Given the description of an element on the screen output the (x, y) to click on. 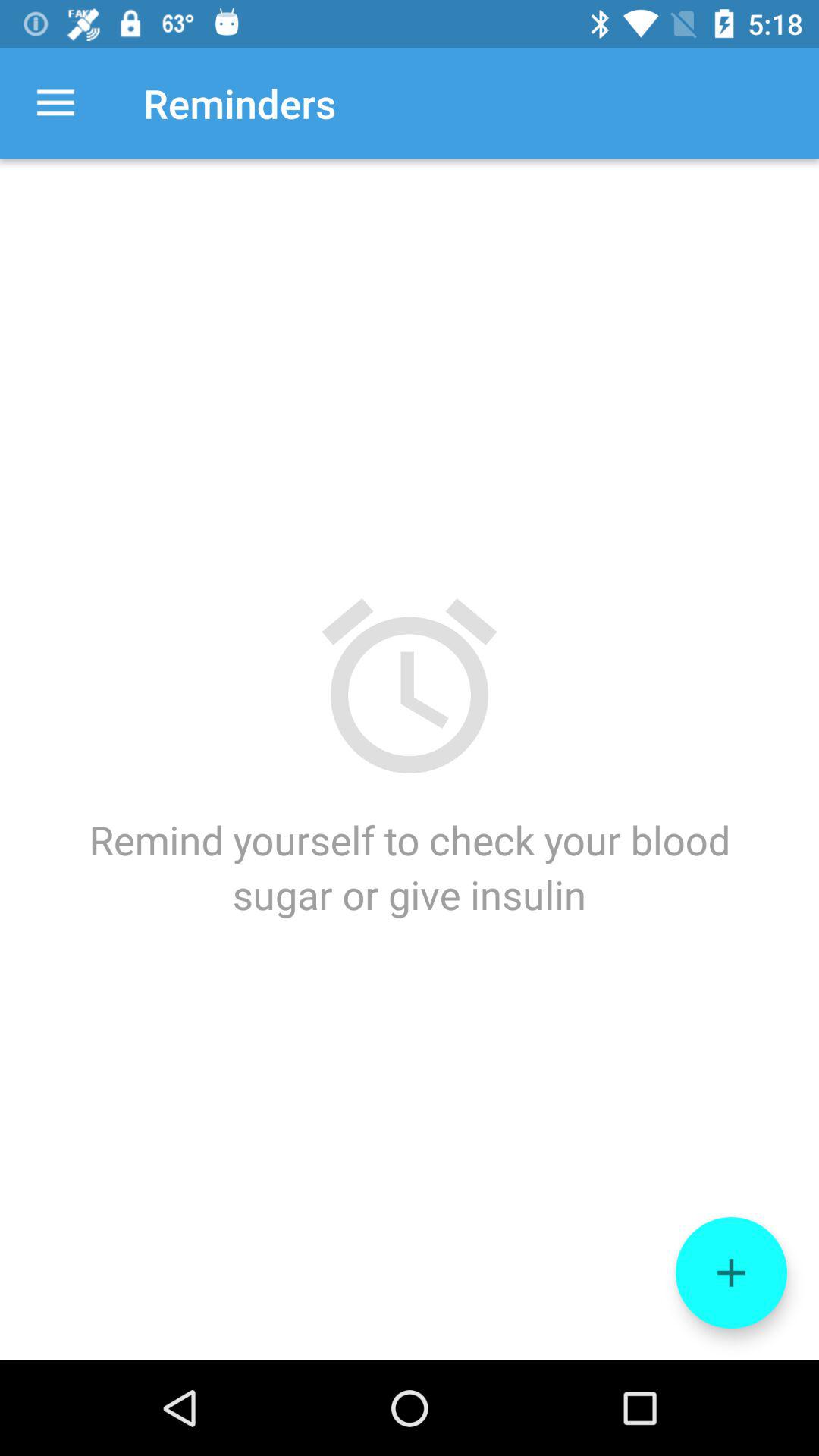
add an alarm (731, 1272)
